Given the description of an element on the screen output the (x, y) to click on. 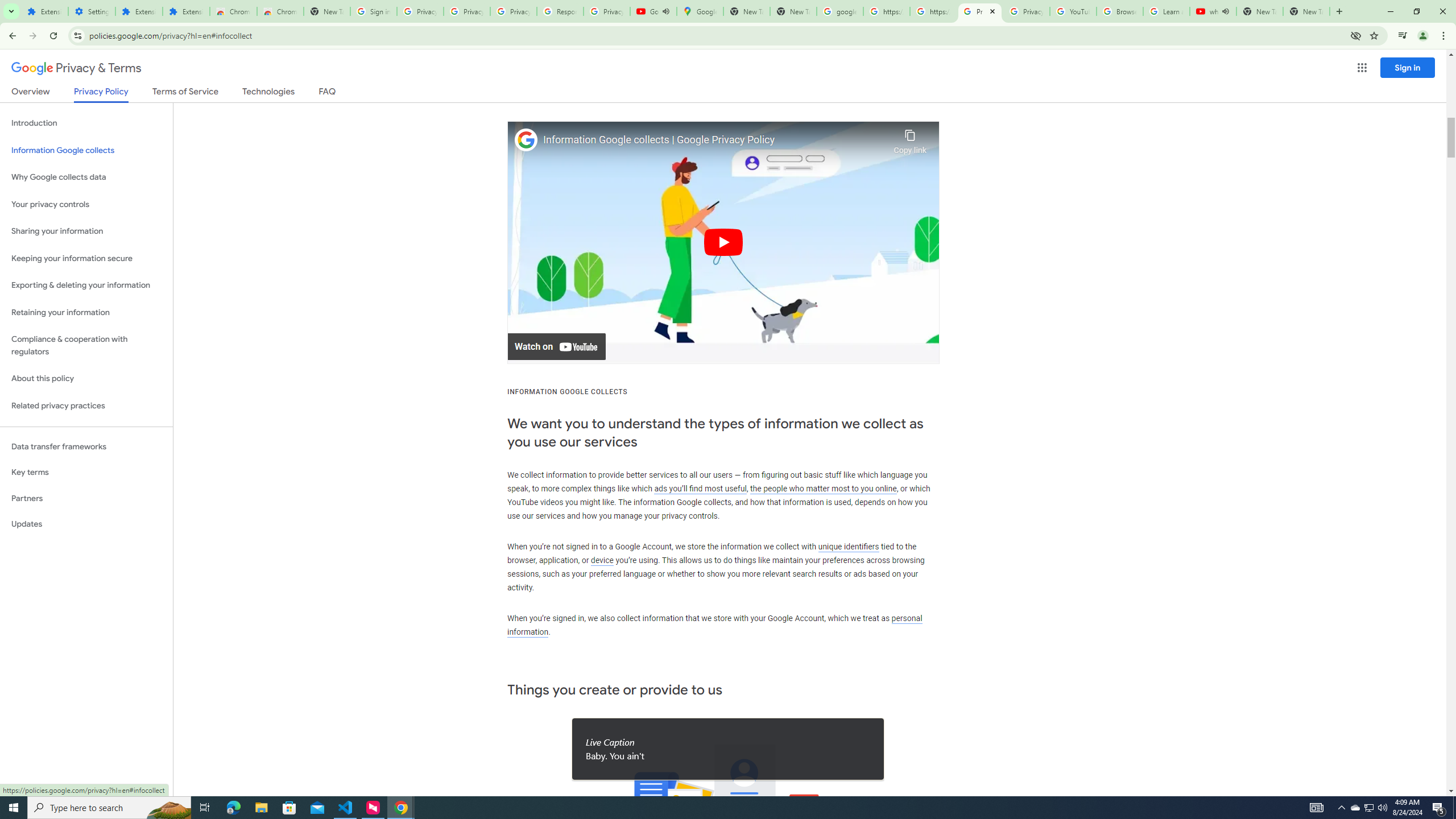
Extensions (186, 11)
Photo image of Google (526, 139)
Settings (91, 11)
Partners (86, 497)
Sign in - Google Accounts (373, 11)
Exporting & deleting your information (86, 284)
New Tab (1306, 11)
Play (723, 242)
personal information (714, 625)
